Given the description of an element on the screen output the (x, y) to click on. 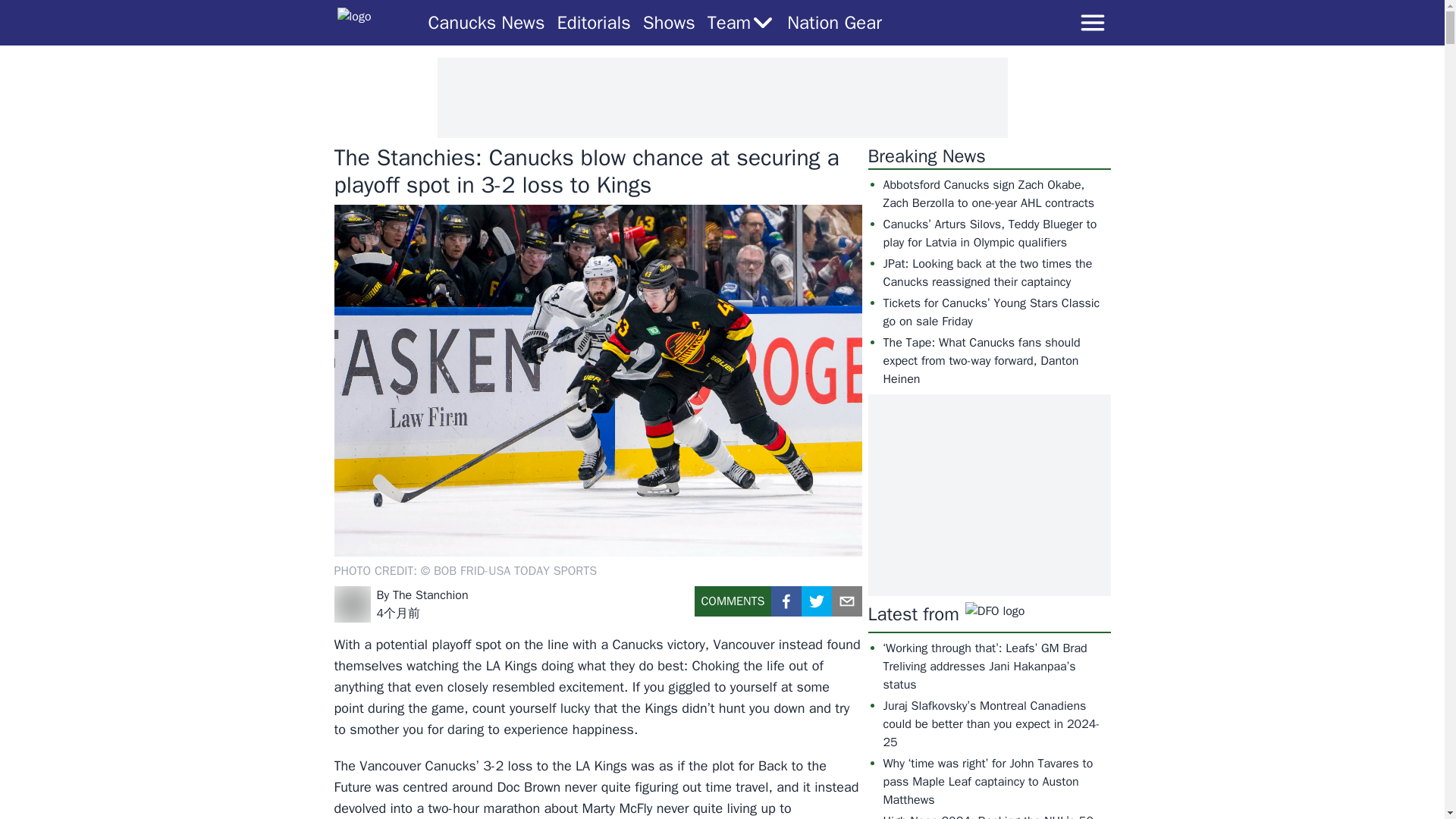
Shows (669, 22)
Editorials (593, 22)
The Stanchion (430, 595)
COMMENTS (732, 606)
Canucks News (486, 22)
Nation Gear (834, 22)
